Given the description of an element on the screen output the (x, y) to click on. 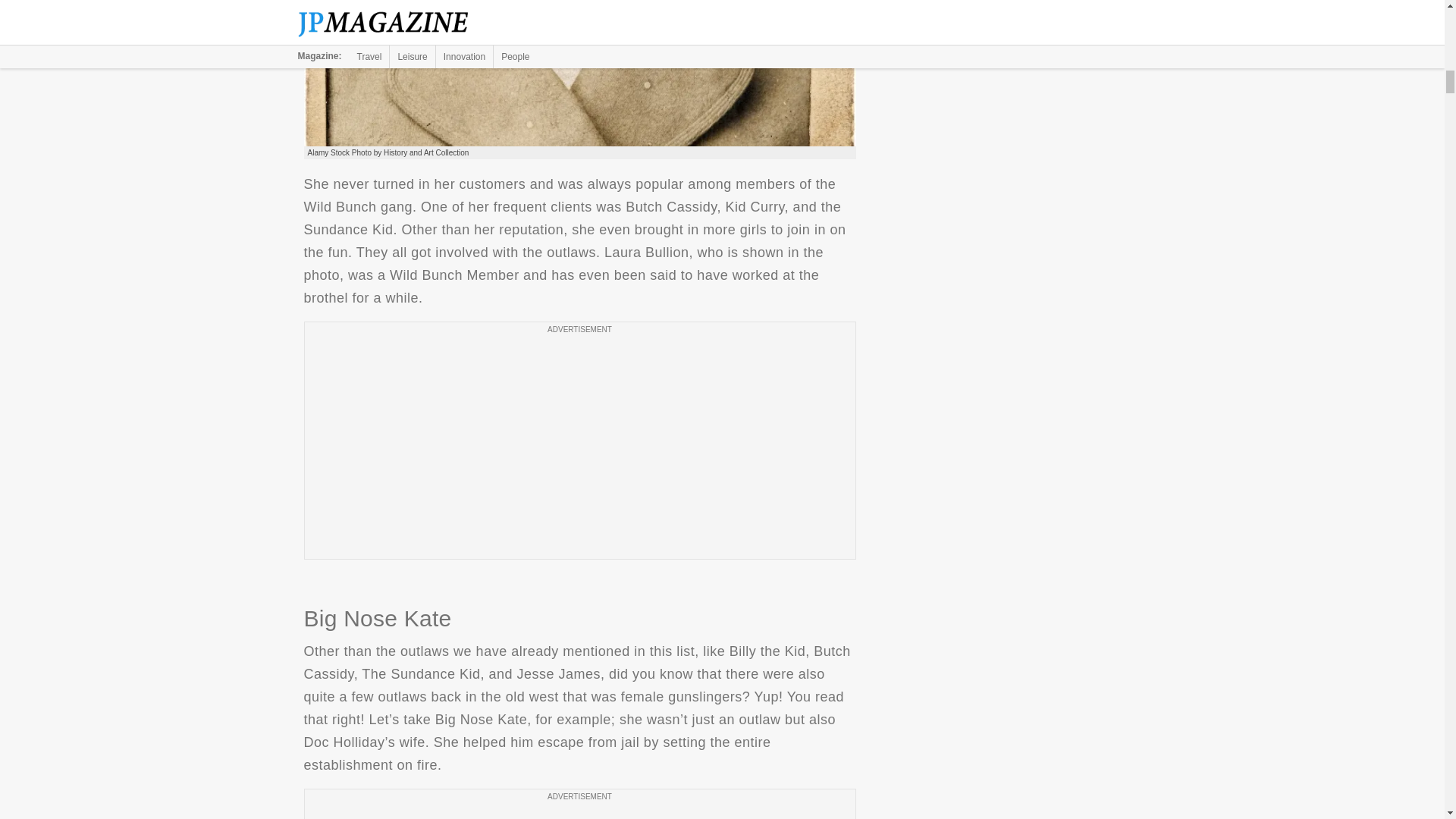
Fannie Porter (579, 73)
